Given the description of an element on the screen output the (x, y) to click on. 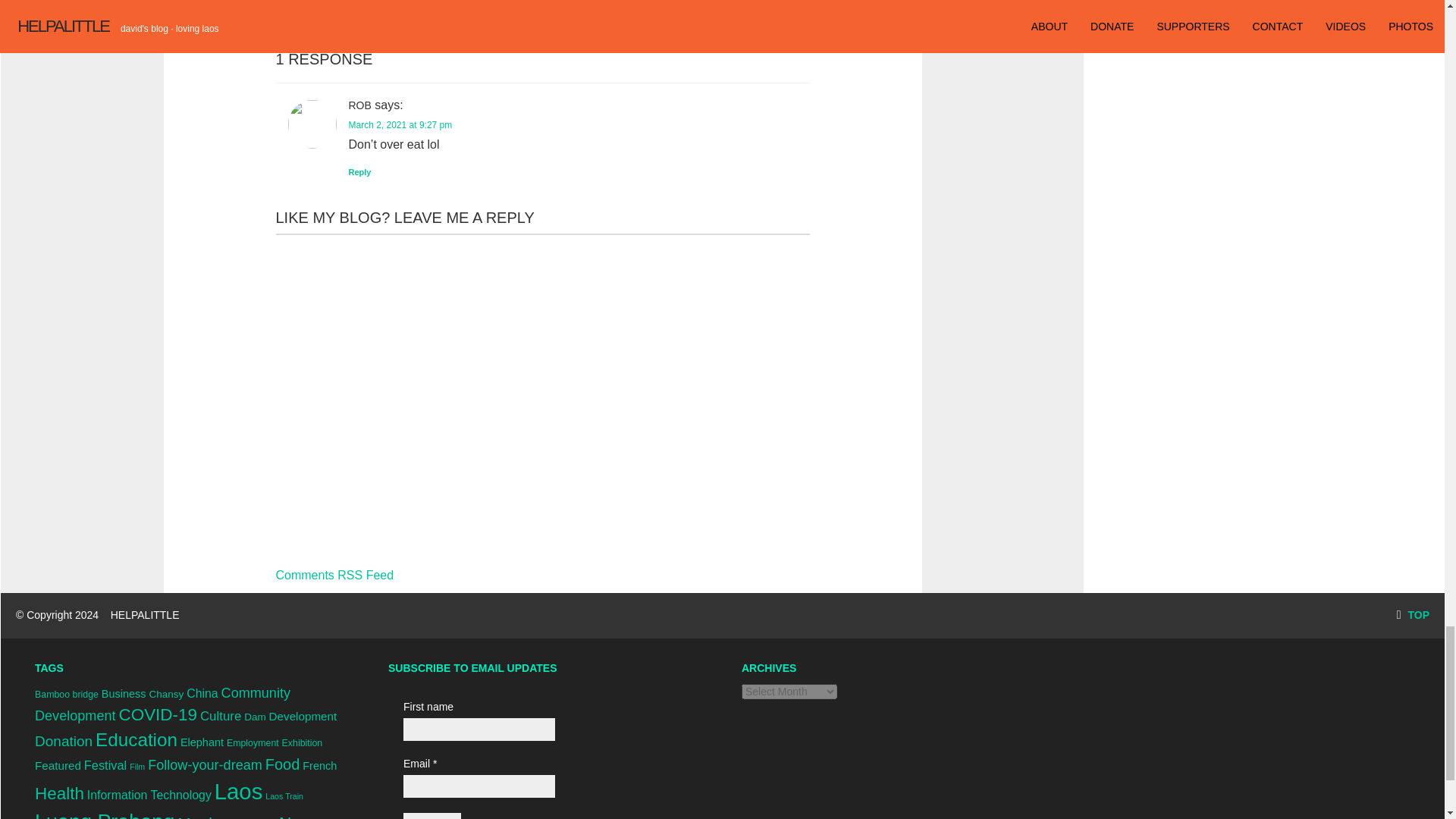
Chansy (165, 694)
Business (124, 693)
Bamboo bridge (66, 694)
March 2, 2021 at 9:27 pm (400, 124)
China (202, 693)
Reply (360, 171)
TOP (1412, 614)
Subscribe! (432, 816)
Comments RSS Feed (335, 574)
